Given the description of an element on the screen output the (x, y) to click on. 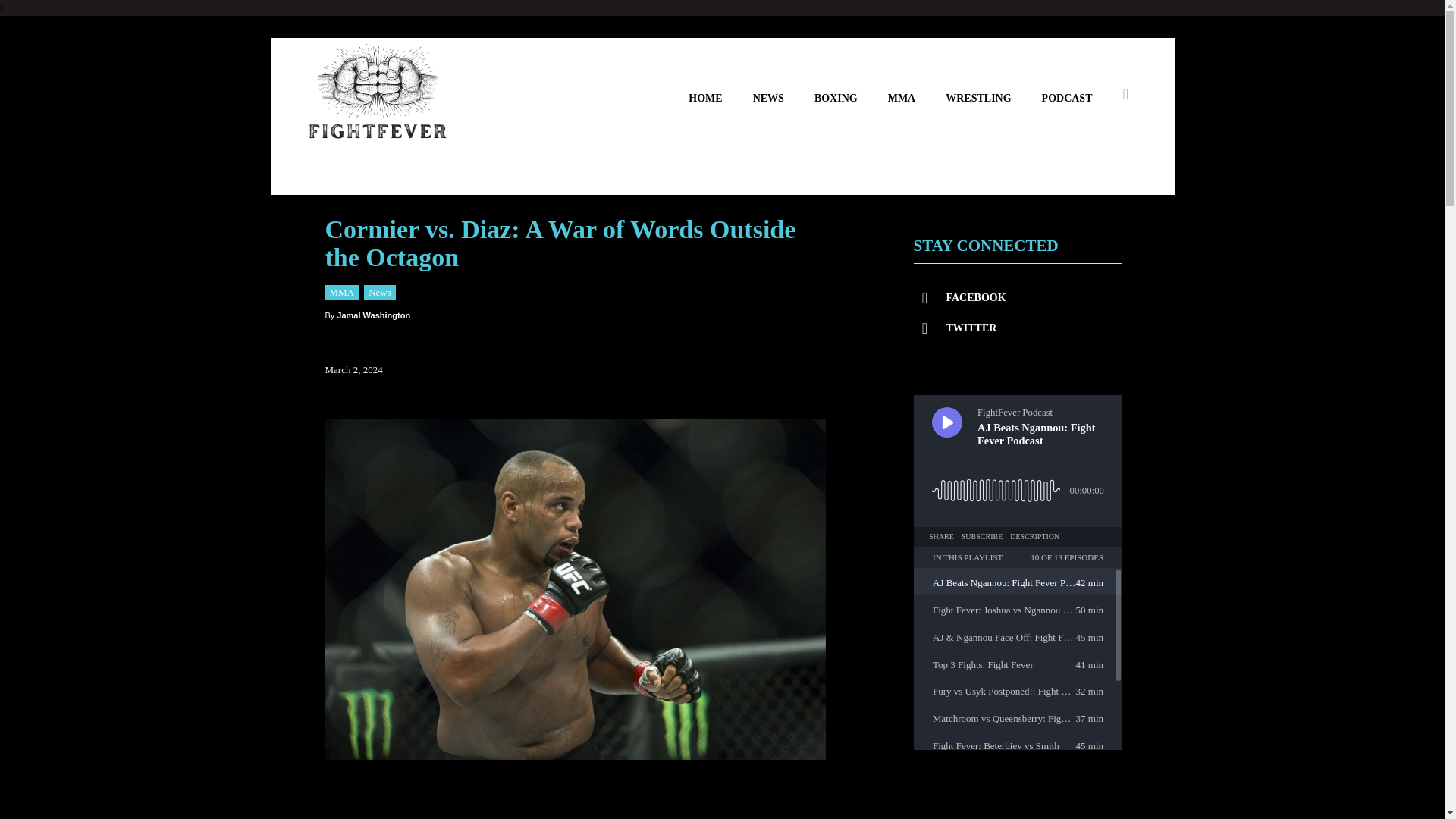
MMA (341, 292)
News (380, 292)
WRESTLING (977, 97)
Jamal Washington (373, 314)
